Given the description of an element on the screen output the (x, y) to click on. 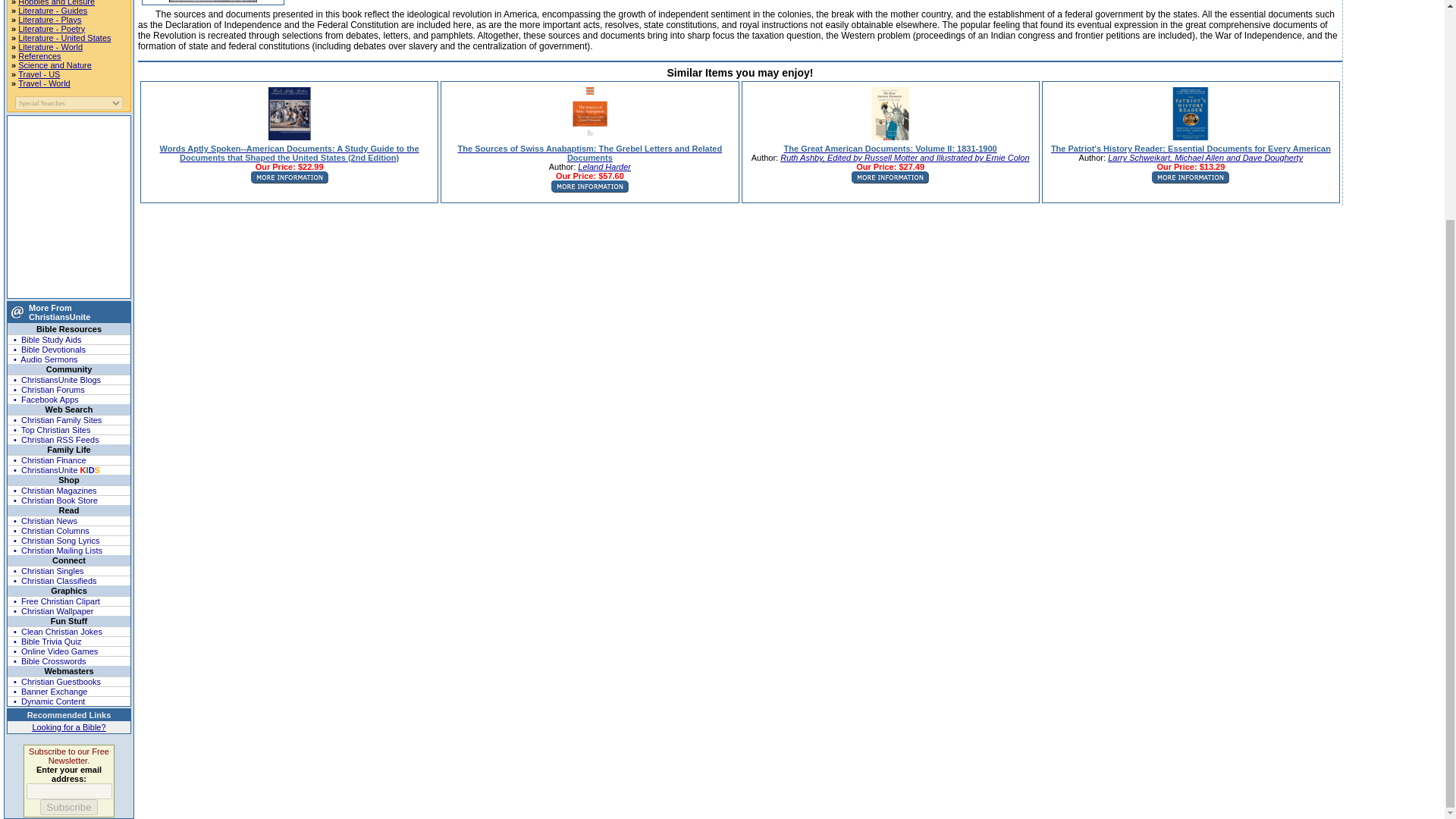
Science and Nature (54, 64)
References (39, 55)
Literature - Guides (52, 10)
Literature - Plays (49, 19)
Travel - US (38, 73)
Subscribe (68, 806)
Literature - United States (63, 37)
Travel - World (43, 82)
Literature - World (49, 46)
Literature - Poetry (50, 28)
Hobbies and Leisure (55, 2)
